Given the description of an element on the screen output the (x, y) to click on. 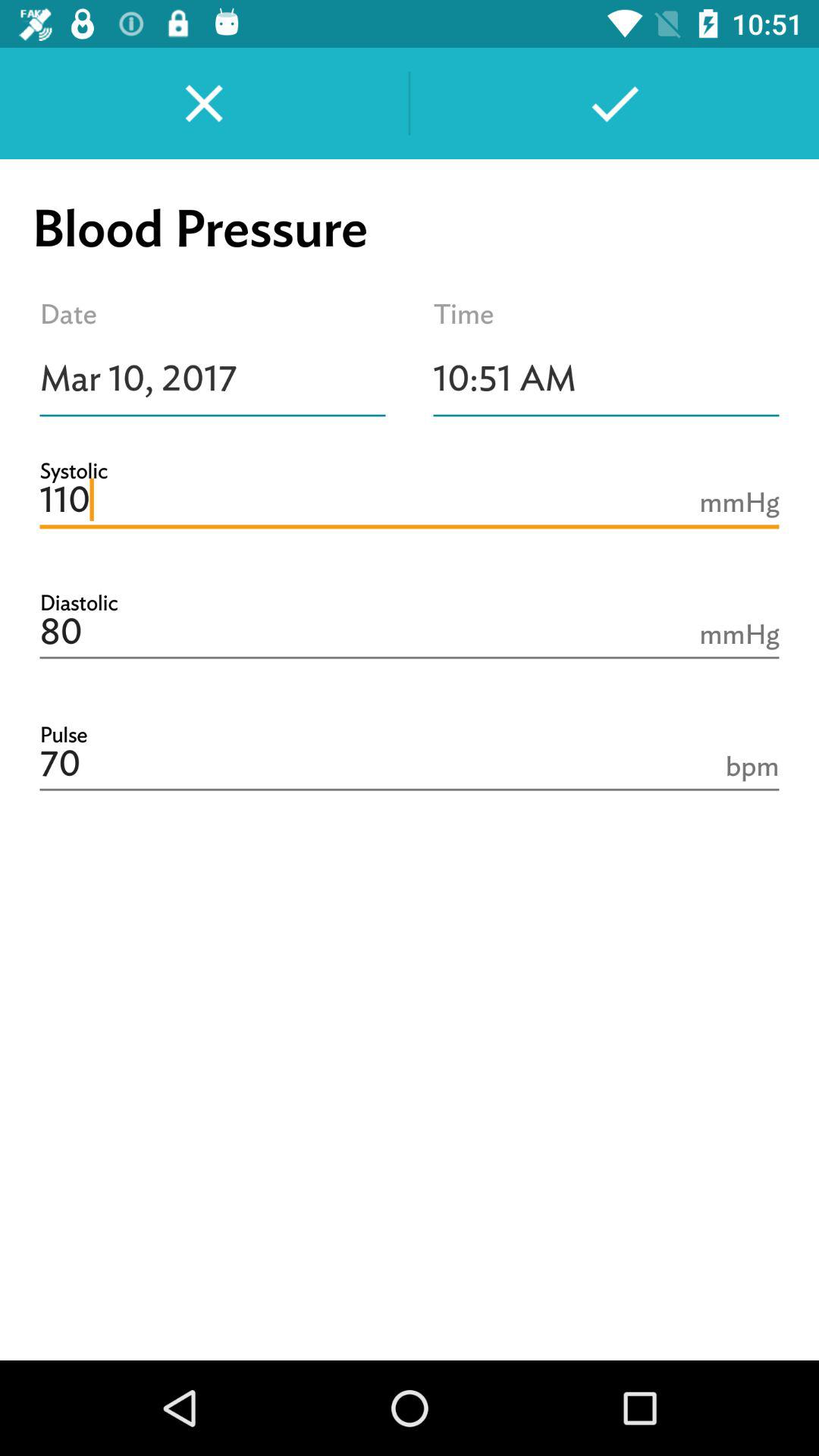
choose icon above 110 (606, 378)
